Given the description of an element on the screen output the (x, y) to click on. 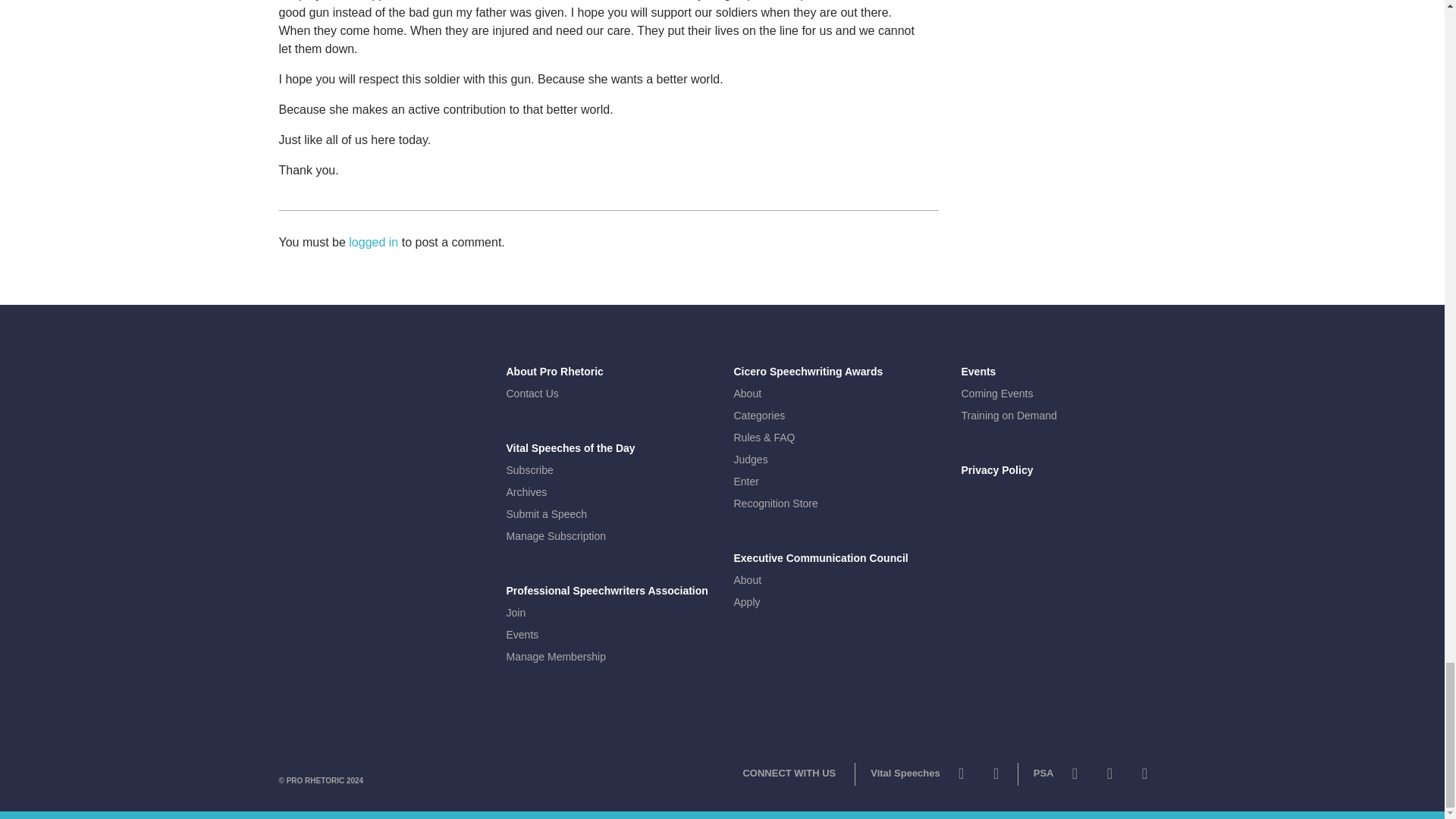
Twitter (961, 776)
YouTube (1109, 776)
LinkedIn (1144, 776)
Facebook (996, 776)
logged in (373, 241)
Twitter (1074, 776)
